Given the description of an element on the screen output the (x, y) to click on. 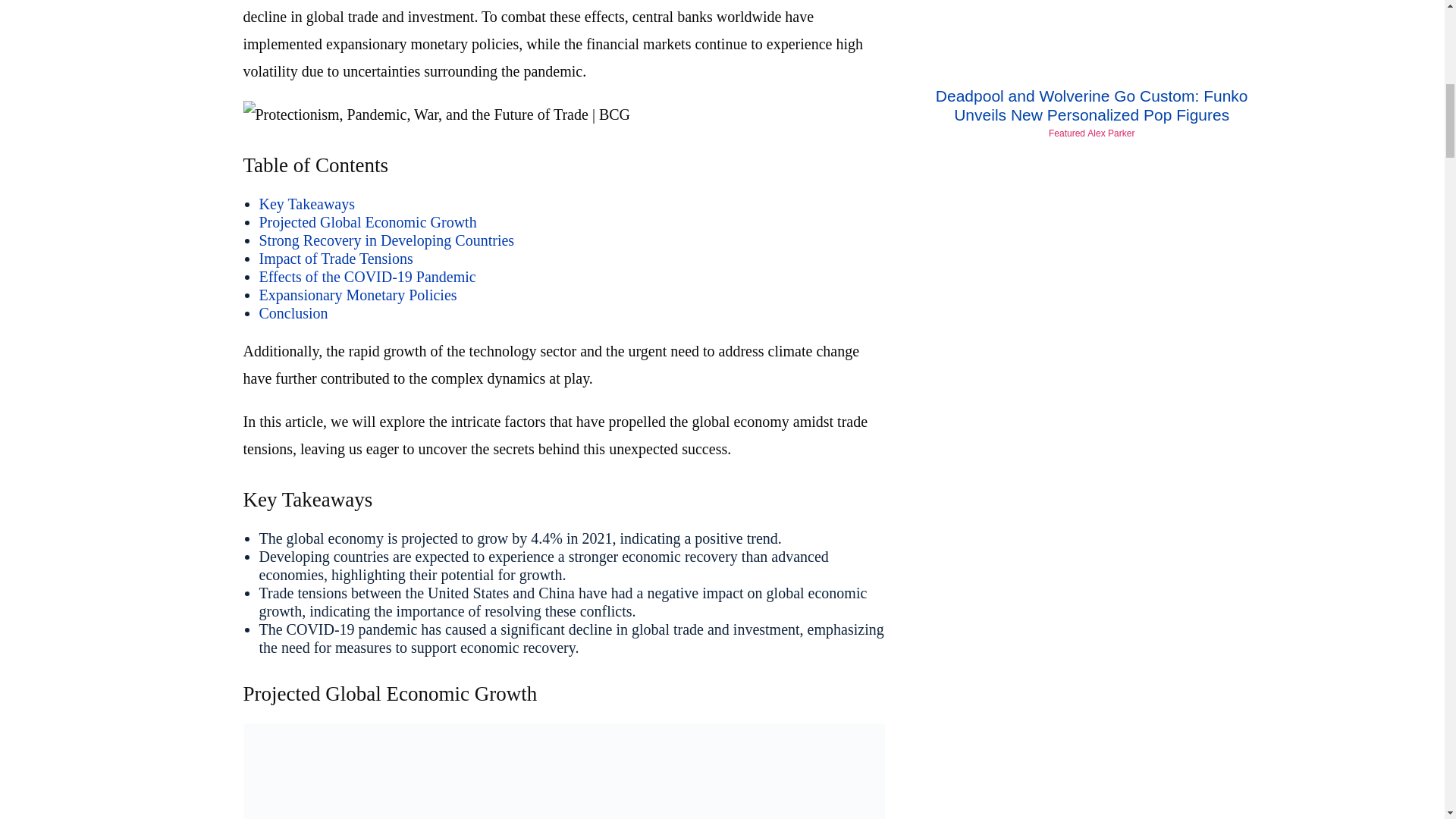
Key Takeaways (307, 203)
Strong Recovery in Developing Countries (387, 239)
Projected Global Economic Growth (368, 221)
Global Economy Soars Amidst Trade Tensions 2 (563, 771)
Global Economy Soars Amidst Trade Tensions 1 (436, 113)
Conclusion (294, 312)
Impact of Trade Tensions (336, 258)
Expansionary Monetary Policies (358, 294)
Effects of the COVID-19 Pandemic (367, 276)
